Given the description of an element on the screen output the (x, y) to click on. 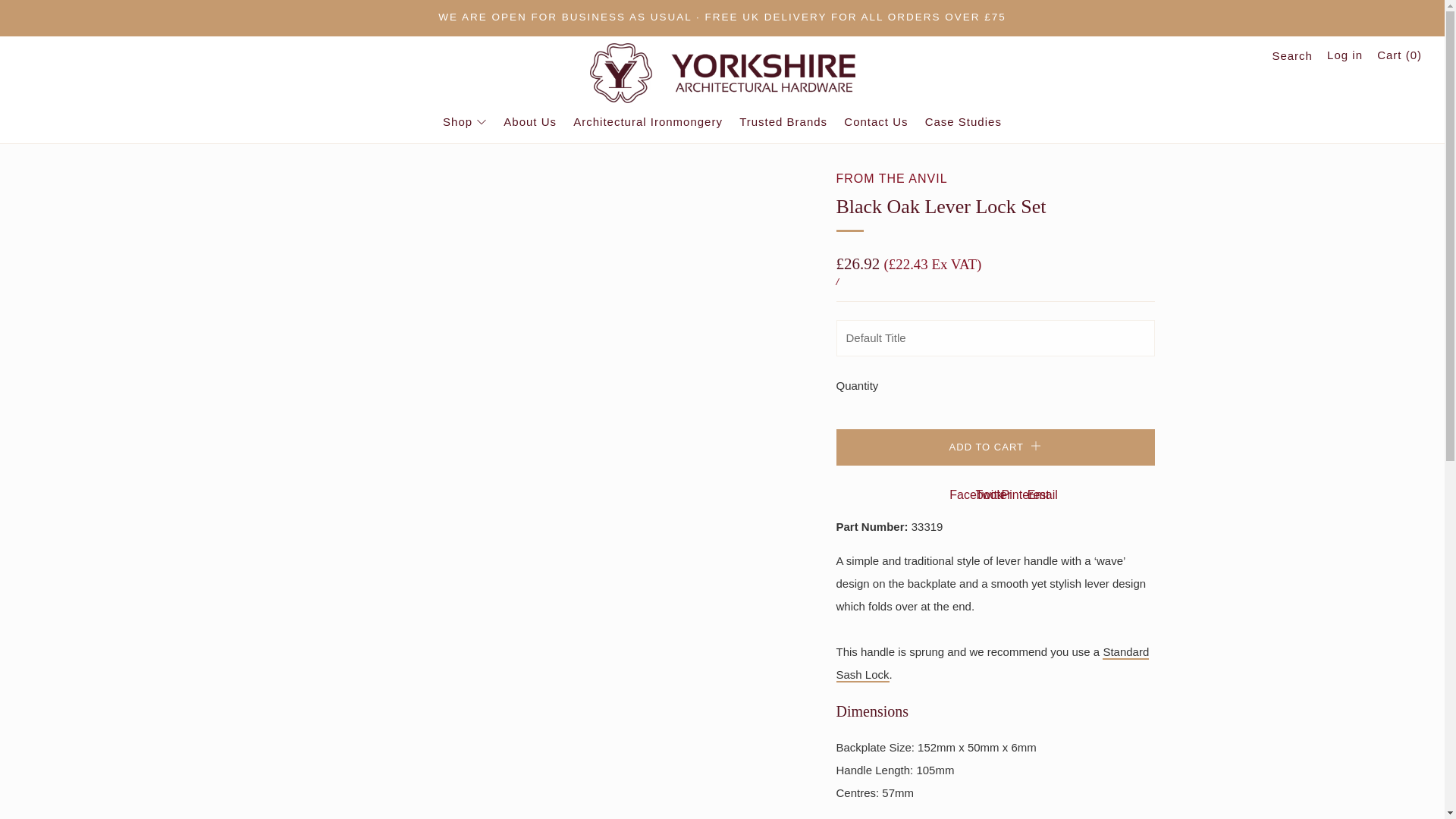
From The Anvil (891, 178)
